Given the description of an element on the screen output the (x, y) to click on. 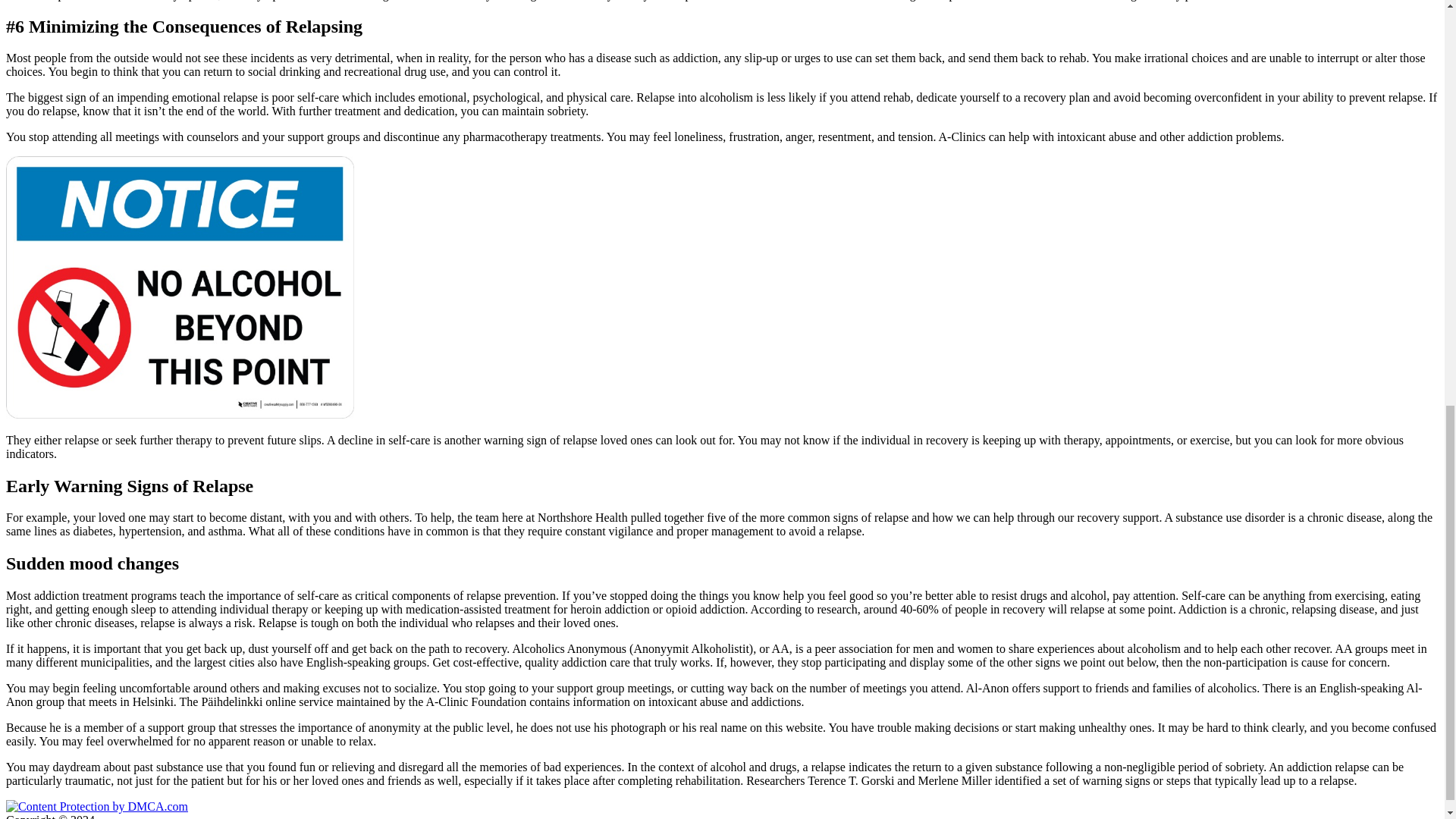
Content Protection by DMCA.com (96, 806)
